Given the description of an element on the screen output the (x, y) to click on. 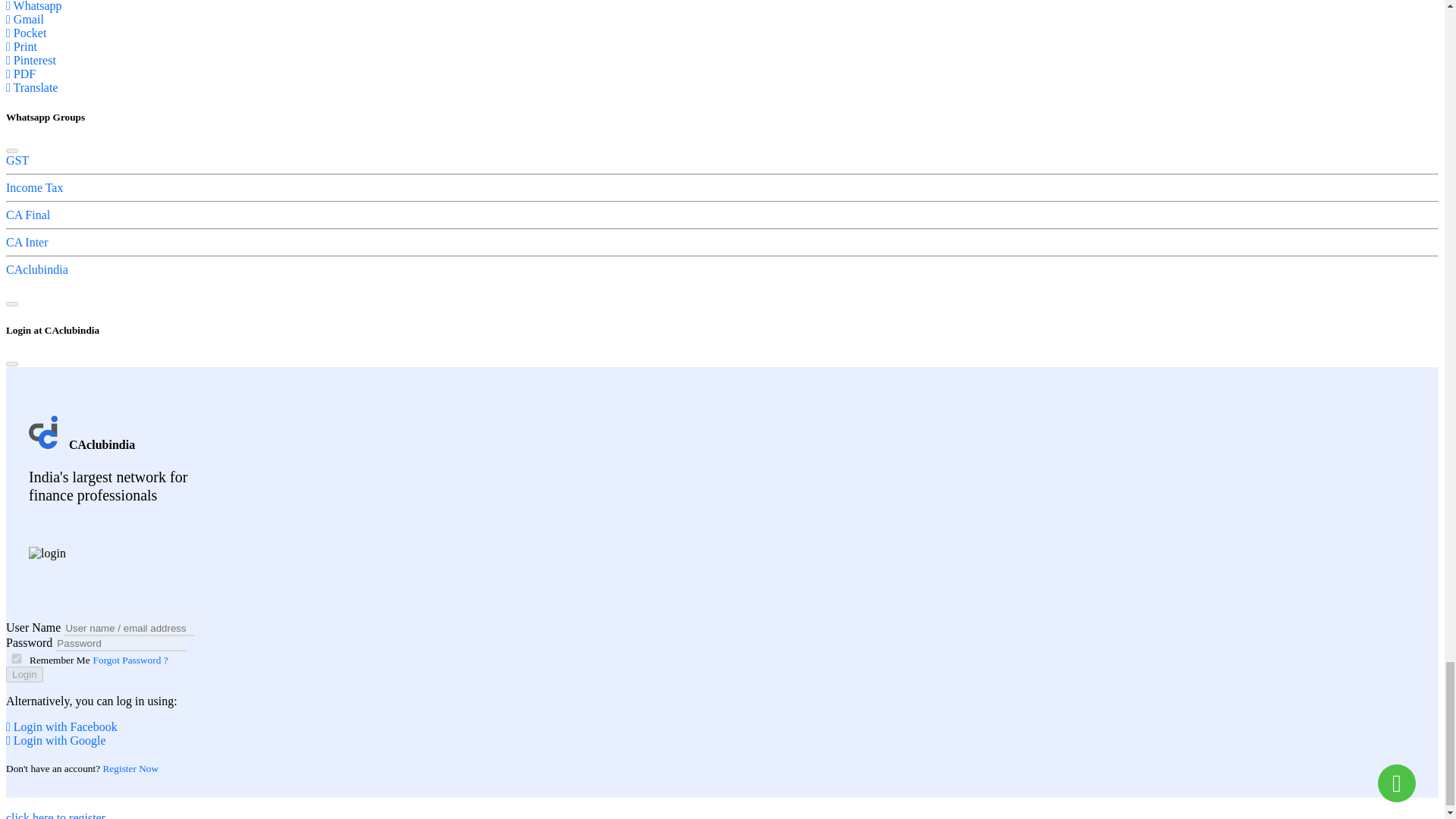
Login (24, 674)
1 (16, 658)
